Given the description of an element on the screen output the (x, y) to click on. 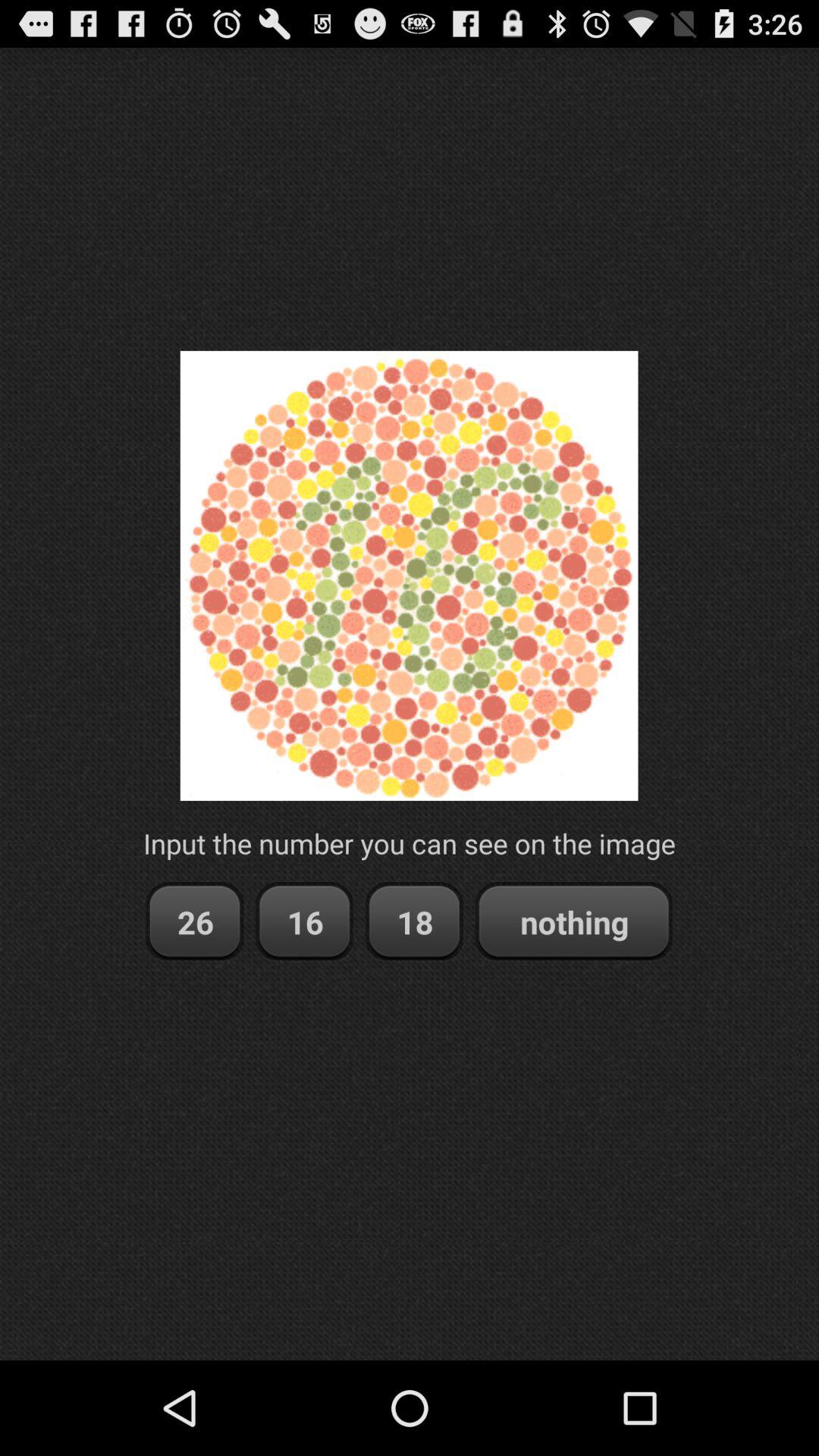
jump to 26 button (194, 921)
